Given the description of an element on the screen output the (x, y) to click on. 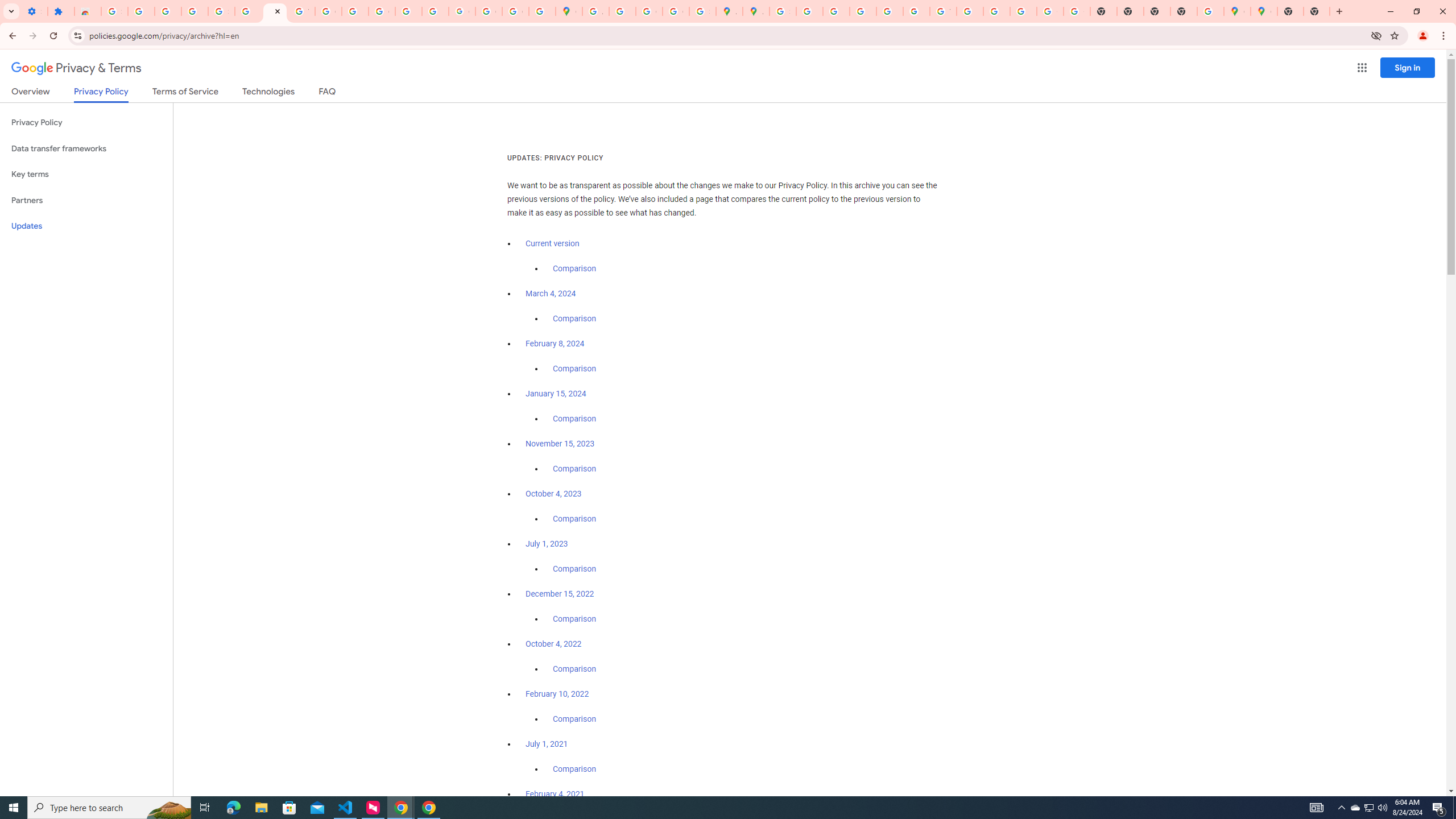
Google Maps (1263, 11)
Reviews: Helix Fruit Jump Arcade Game (87, 11)
Delete photos & videos - Computer - Google Photos Help (141, 11)
YouTube (301, 11)
